Given the description of an element on the screen output the (x, y) to click on. 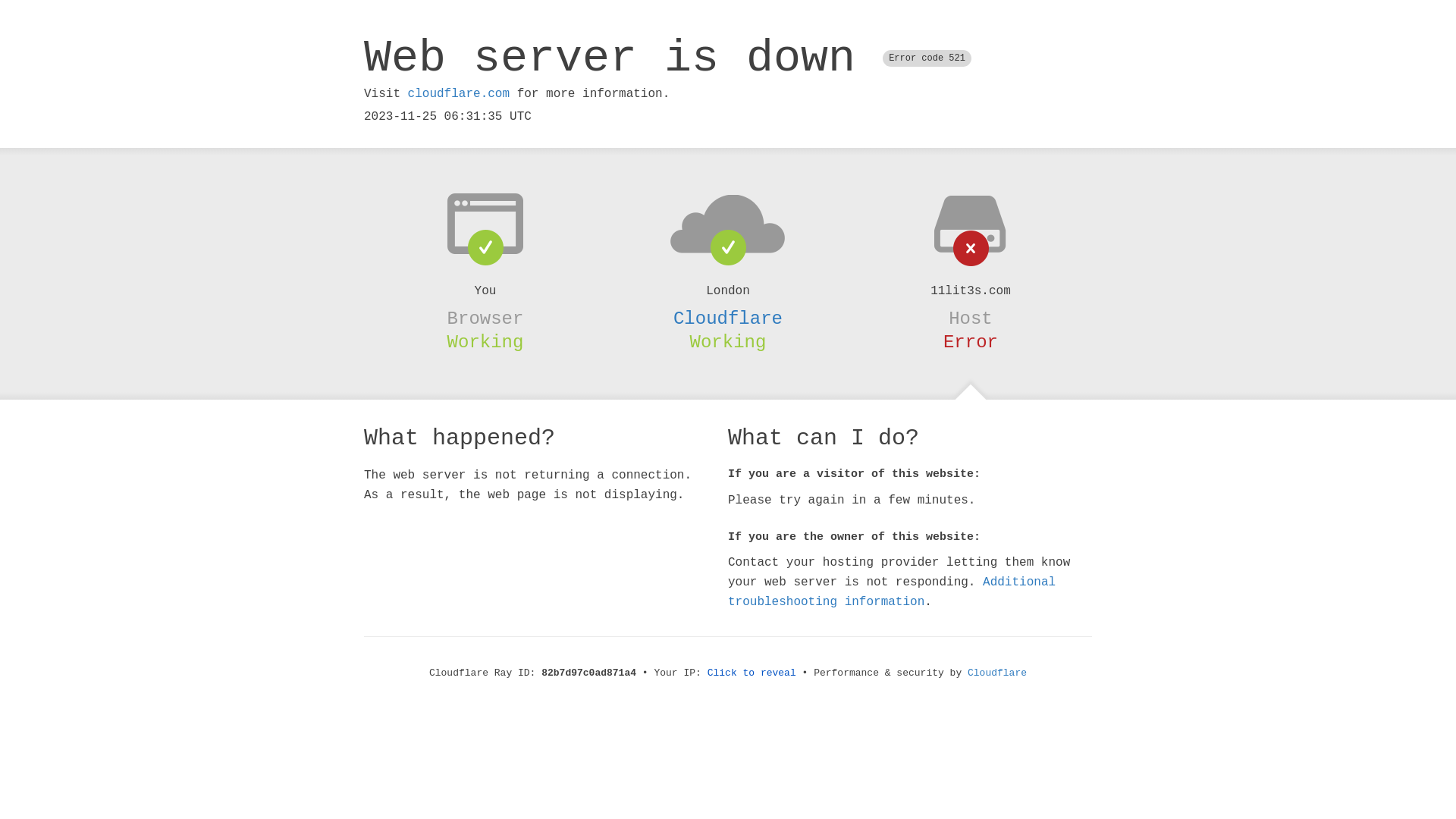
Click to reveal Element type: text (751, 672)
Cloudflare Element type: text (996, 672)
Cloudflare Element type: text (727, 318)
Additional troubleshooting information Element type: text (891, 591)
cloudflare.com Element type: text (458, 93)
